Given the description of an element on the screen output the (x, y) to click on. 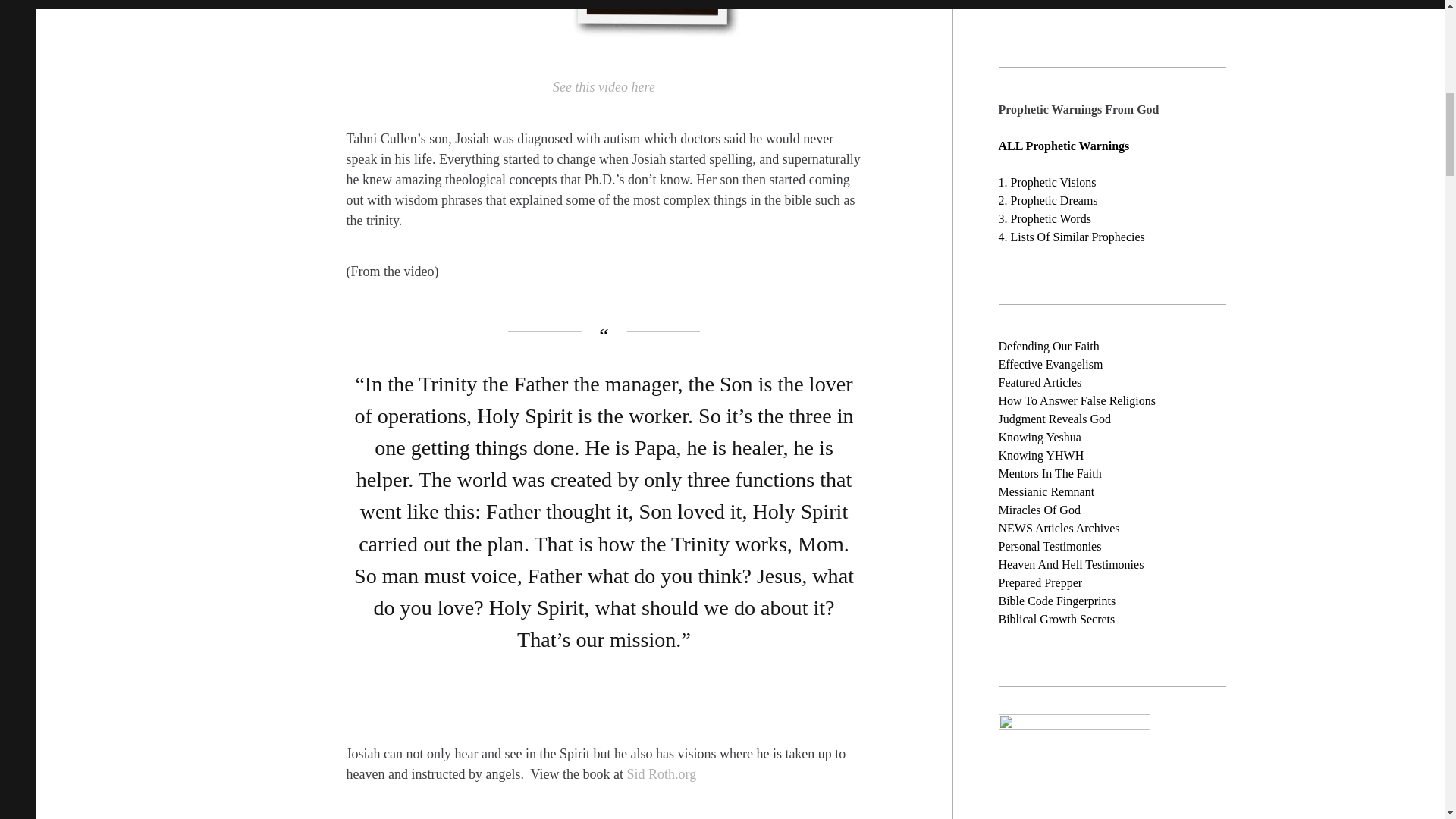
1. Prophetic Visions (1046, 181)
See this video here (604, 87)
Defending Our Faith (1048, 345)
Sid Roth.org (660, 774)
3. Prophetic Words (1043, 217)
Featured Articles (1039, 381)
Knowing Yeshua (1038, 436)
See this video here (604, 87)
Sid Roth.org (660, 774)
How To Answer False Religions (1075, 399)
God (1099, 418)
Judgment (1022, 418)
Reveals (1069, 418)
ALL Prophetic Warnings (1063, 144)
2. Prophetic Dreams (1047, 199)
